Given the description of an element on the screen output the (x, y) to click on. 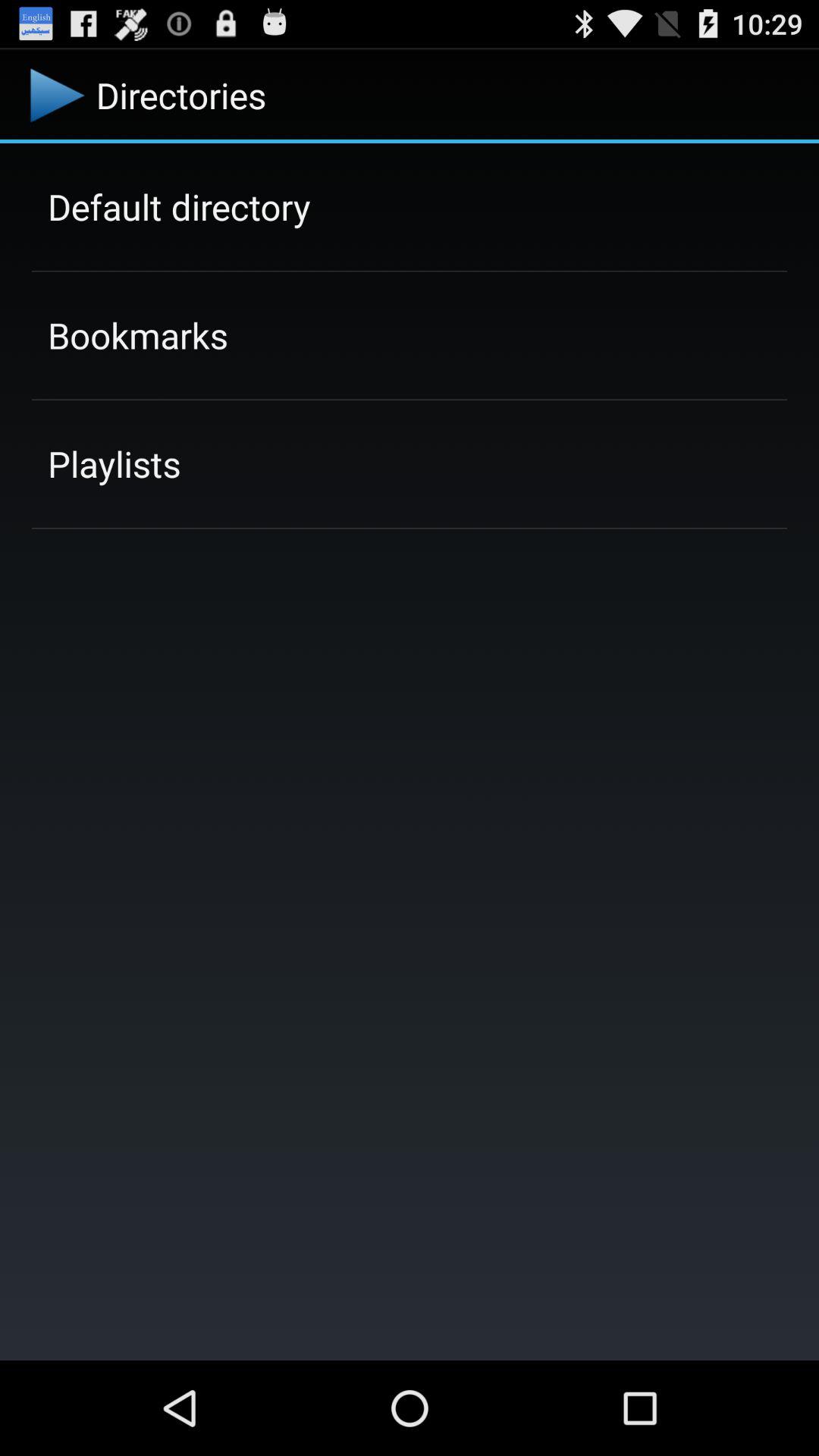
turn on the item above the playlists icon (137, 335)
